Given the description of an element on the screen output the (x, y) to click on. 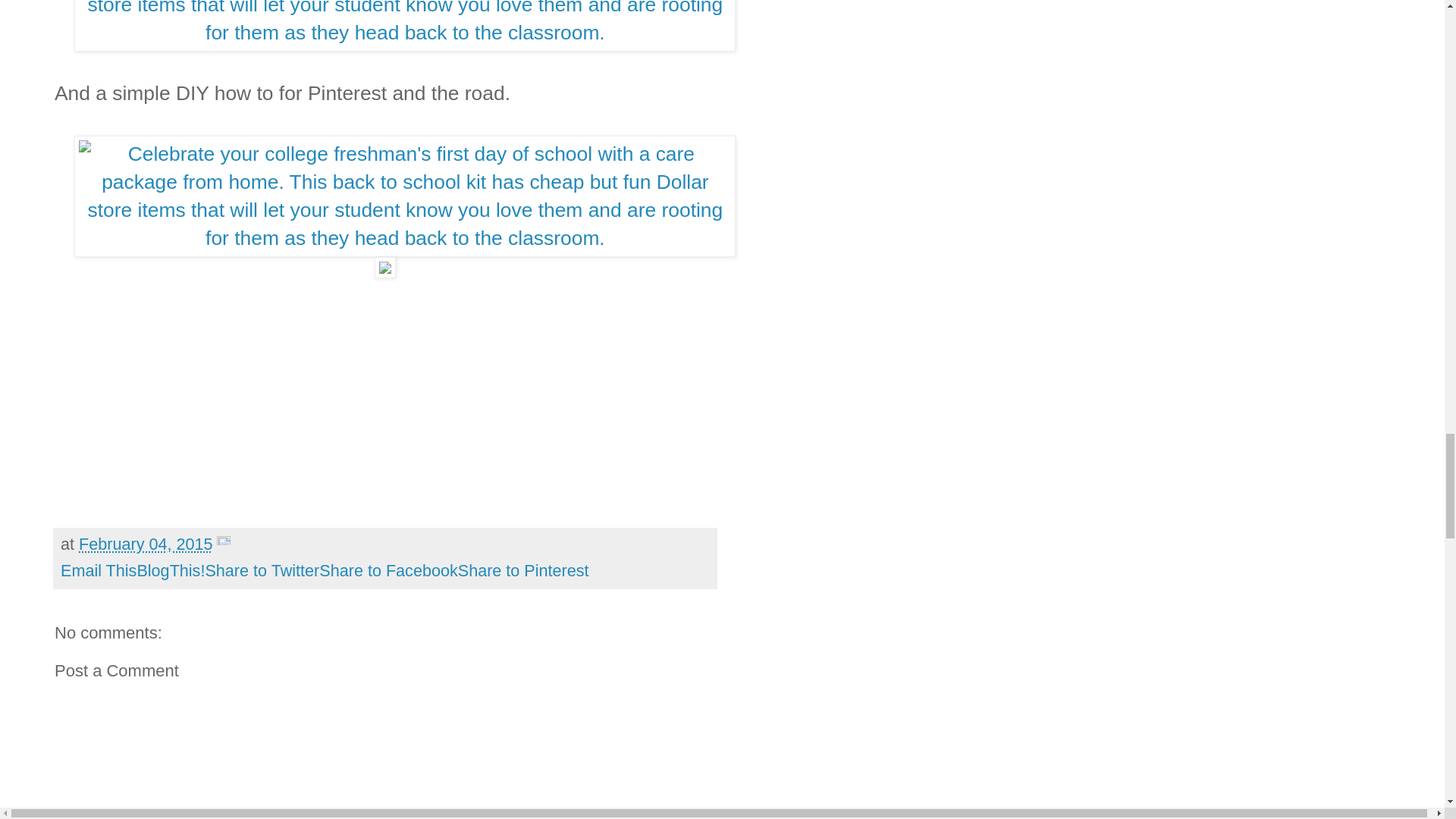
Share to Facebook (387, 570)
Email This (98, 570)
Share to Twitter (261, 570)
February 04, 2015 (145, 543)
Share to Pinterest (523, 570)
permanent link (145, 543)
BlogThis! (170, 570)
Email This (98, 570)
BlogThis! (170, 570)
